Given the description of an element on the screen output the (x, y) to click on. 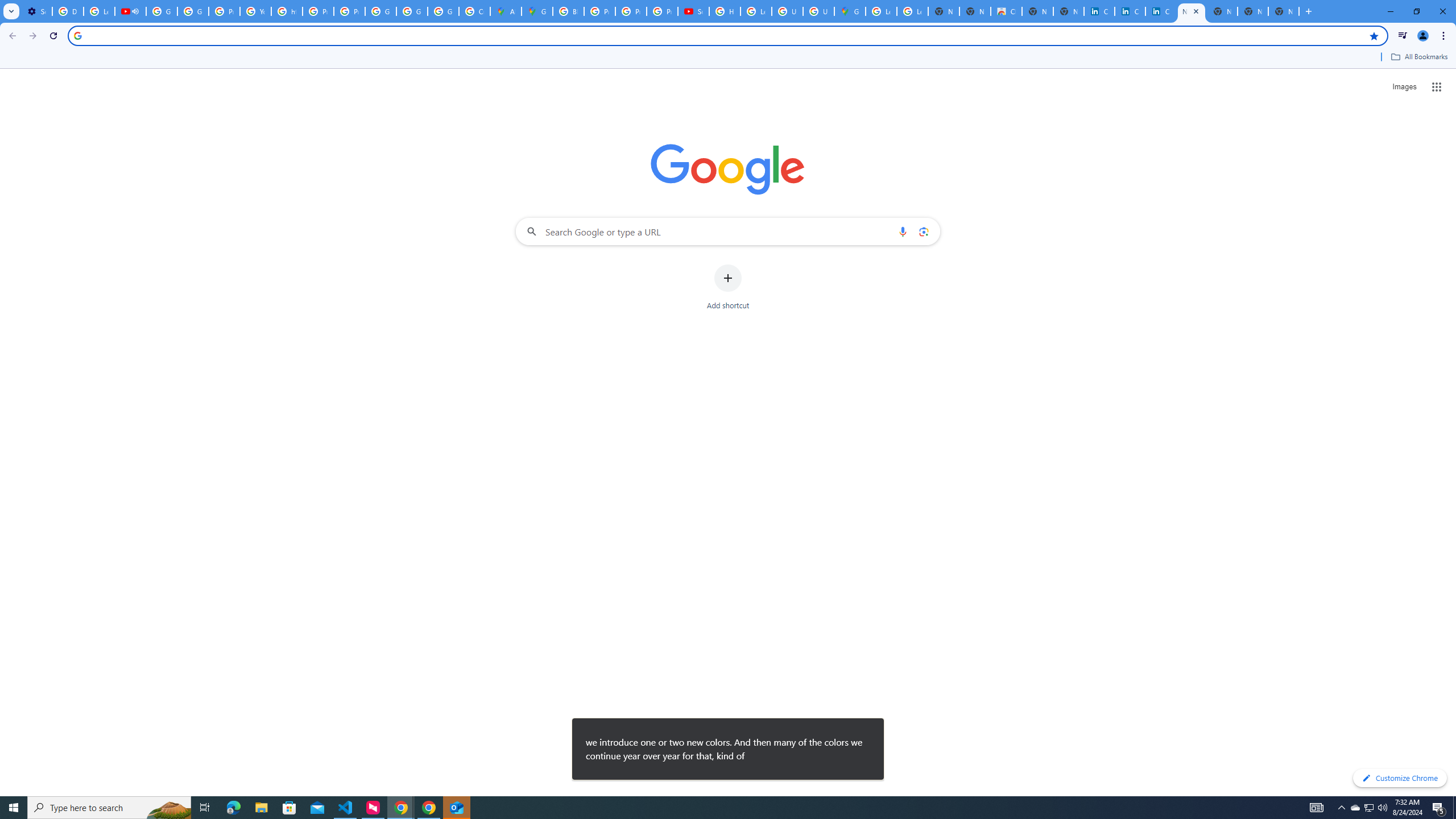
Settings - Customize profile (36, 11)
Cookie Policy | LinkedIn (1098, 11)
Subscriptions - YouTube (693, 11)
Google Account Help (161, 11)
Delete photos & videos - Computer - Google Photos Help (67, 11)
Google Maps (849, 11)
